Given the description of an element on the screen output the (x, y) to click on. 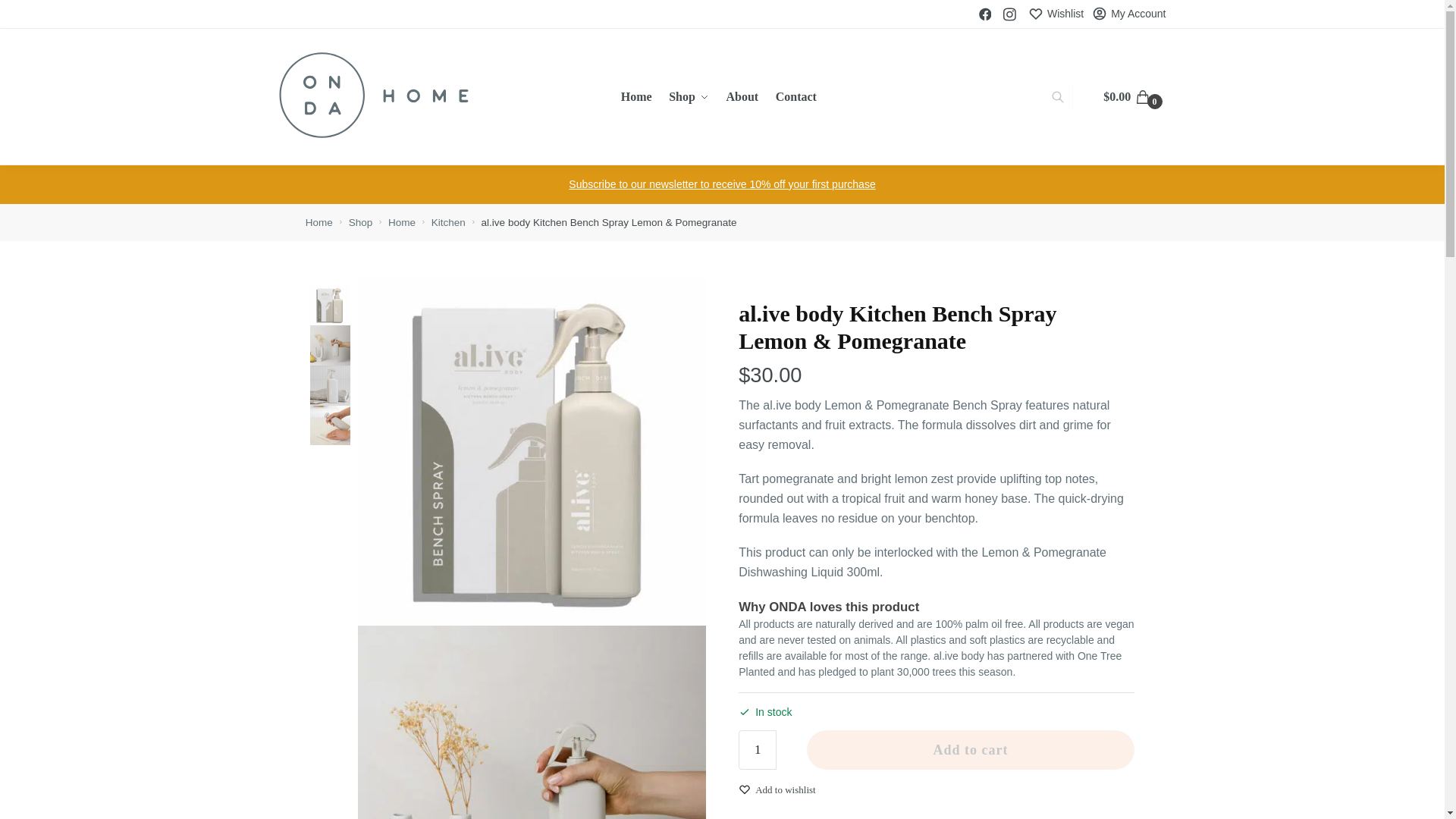
View your shopping cart (1134, 96)
click to zoom-in (532, 451)
My Account (1129, 13)
1 (757, 749)
click to zoom-in (532, 722)
Wishlist (1055, 13)
